Given the description of an element on the screen output the (x, y) to click on. 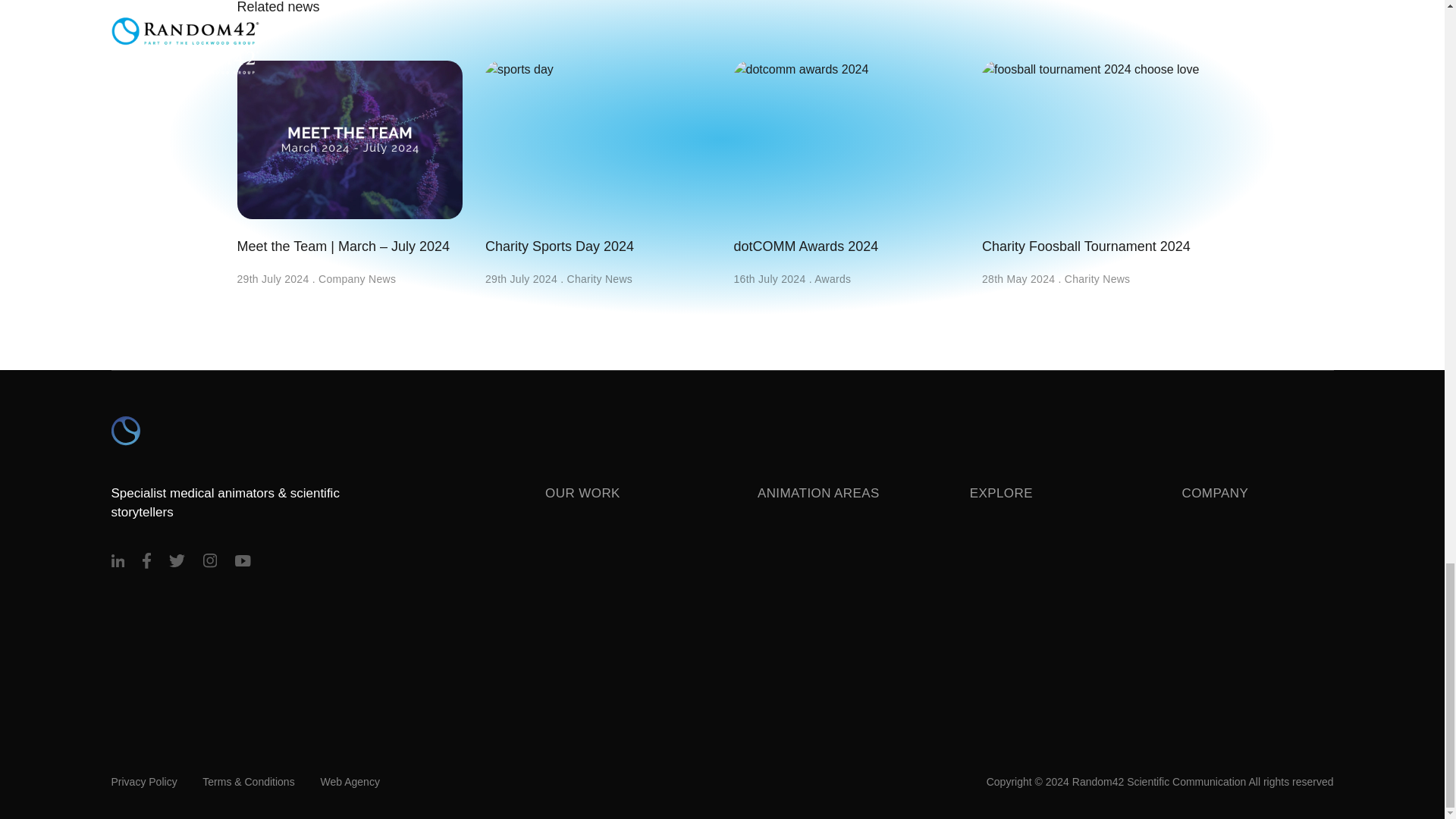
Charity News (600, 278)
Charity Sports Day 2024 (597, 157)
Company News (357, 278)
